Given the description of an element on the screen output the (x, y) to click on. 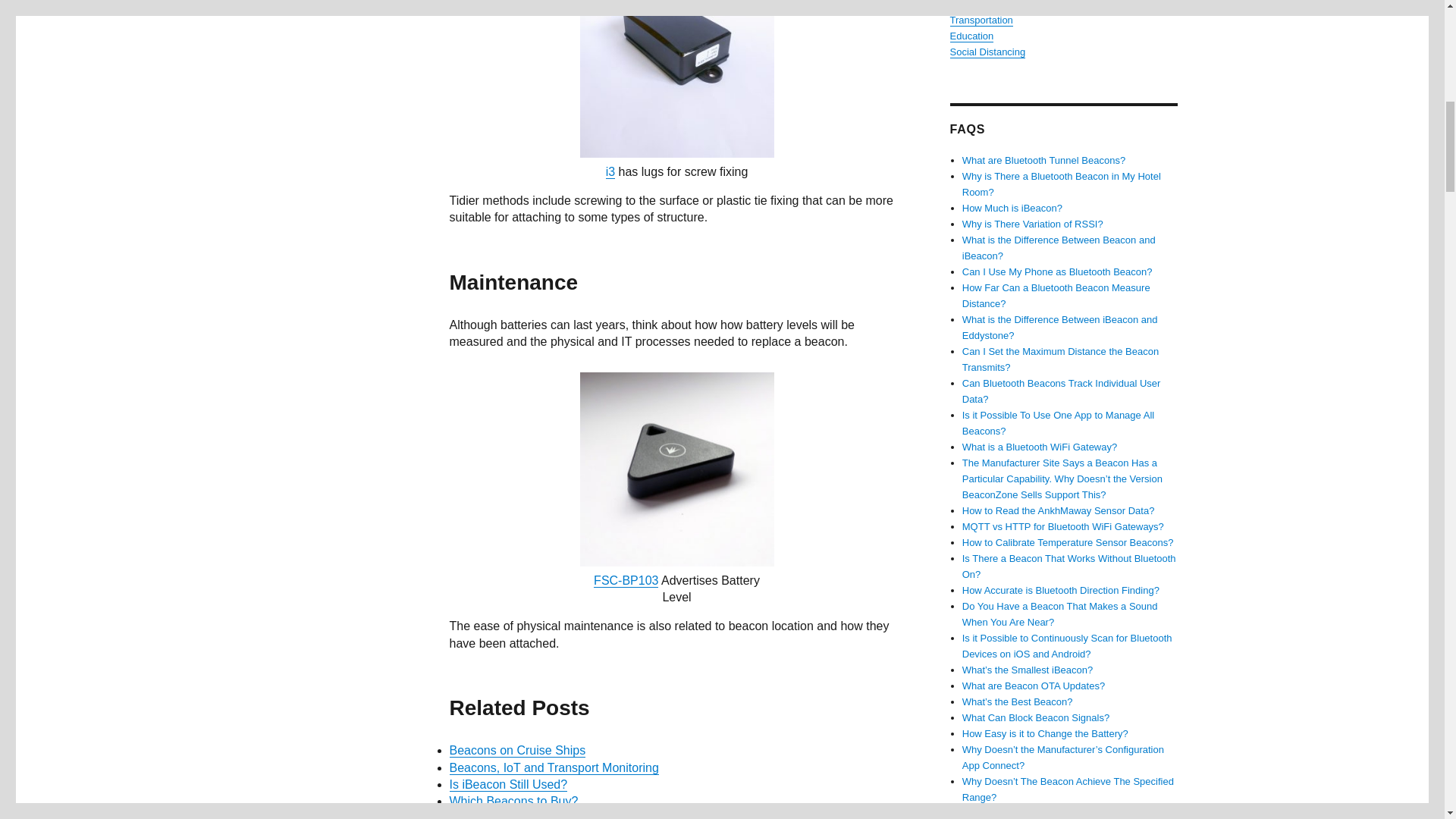
Using Beacons for Intelligent In-Room Presence Detection (605, 815)
Beacons on Cruise Ships (516, 749)
Is iBeacon Still Used? (507, 784)
Which Beacons to Buy? (513, 800)
Using Beacons for Intelligent In-Room Presence Detection (605, 815)
Beacons on Cruise Ships (516, 749)
Beacons, IoT and Transport Monitoring (553, 767)
Is iBeacon Still Used? (507, 784)
i3 (609, 171)
FSC-BP103 (626, 580)
Beacons, IoT and Transport Monitoring (553, 767)
Which Beacons to Buy? (513, 800)
